Given the description of an element on the screen output the (x, y) to click on. 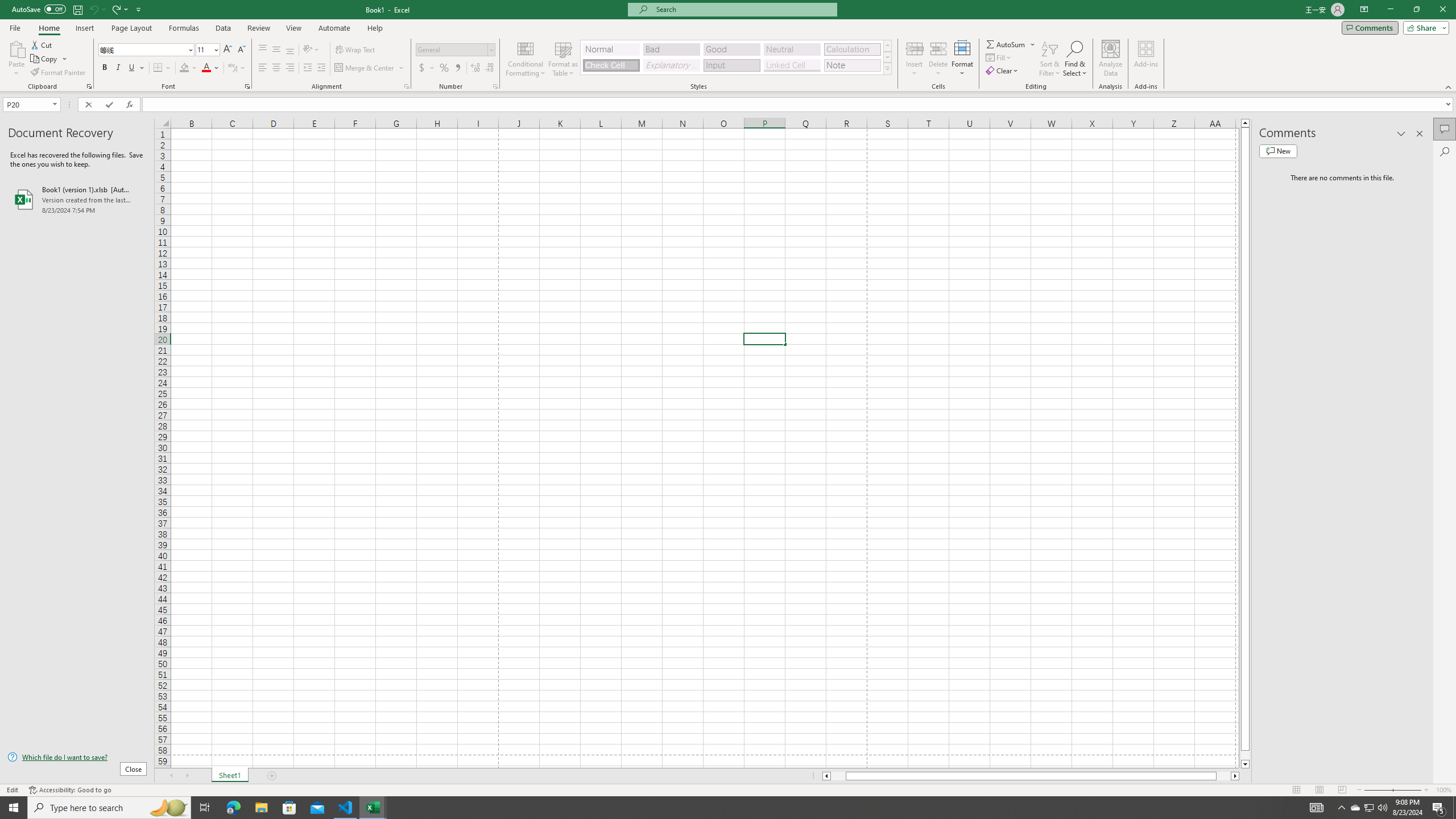
Copy (45, 58)
Font (142, 49)
Italic (118, 67)
Show Phonetic Field (231, 67)
Top Align (262, 49)
Fill Color RGB(255, 255, 0) (183, 67)
Borders (162, 67)
Bold (104, 67)
Insert Cells (914, 48)
Sum (1006, 44)
